Given the description of an element on the screen output the (x, y) to click on. 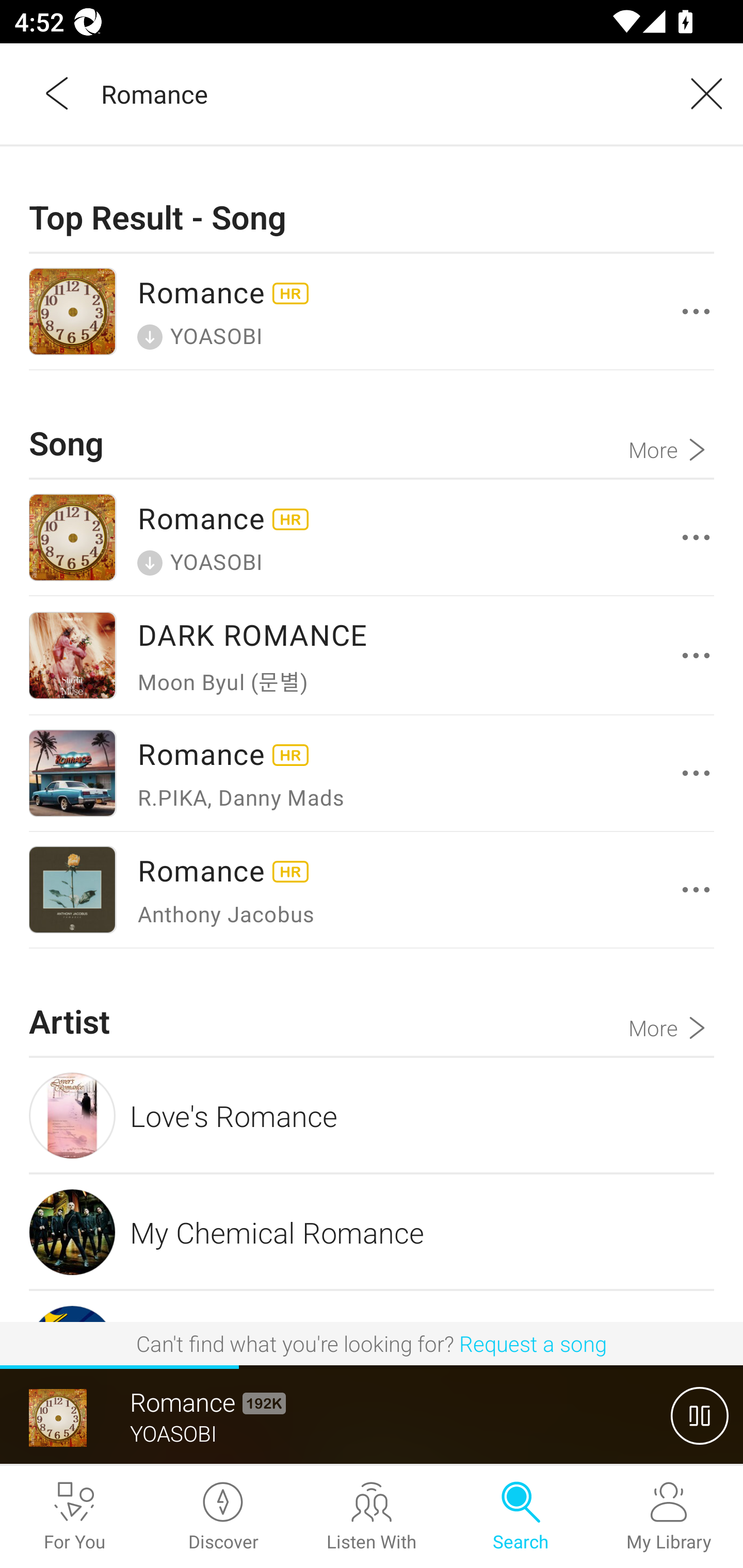
Romance (378, 92)
Clear query (699, 92)
Back,outside of the list (57, 93)
Romance 已下載 YOASOBI 更多操作選項 (371, 312)
更多操作選項 (695, 311)
More Song More (671, 424)
Romance 已下載 YOASOBI 更多操作選項 (371, 537)
更多操作選項 (695, 536)
DARK ROMANCE Moon Byul (문별) 更多操作選項 (371, 655)
更多操作選項 (695, 655)
Romance R.PIKA, Danny Mads 更多操作選項 (371, 773)
更多操作選項 (695, 772)
Romance Anthony Jacobus 更多操作選項 (371, 889)
更多操作選項 (695, 889)
More Artist More (671, 1002)
Love's Romance (371, 1115)
My Chemical Romance (371, 1232)
Can't find what you're looking for? Request a song (371, 1343)
暫停播放 (699, 1415)
For You (74, 1517)
Discover (222, 1517)
Listen With (371, 1517)
Search (519, 1517)
My Library (668, 1517)
